Given the description of an element on the screen output the (x, y) to click on. 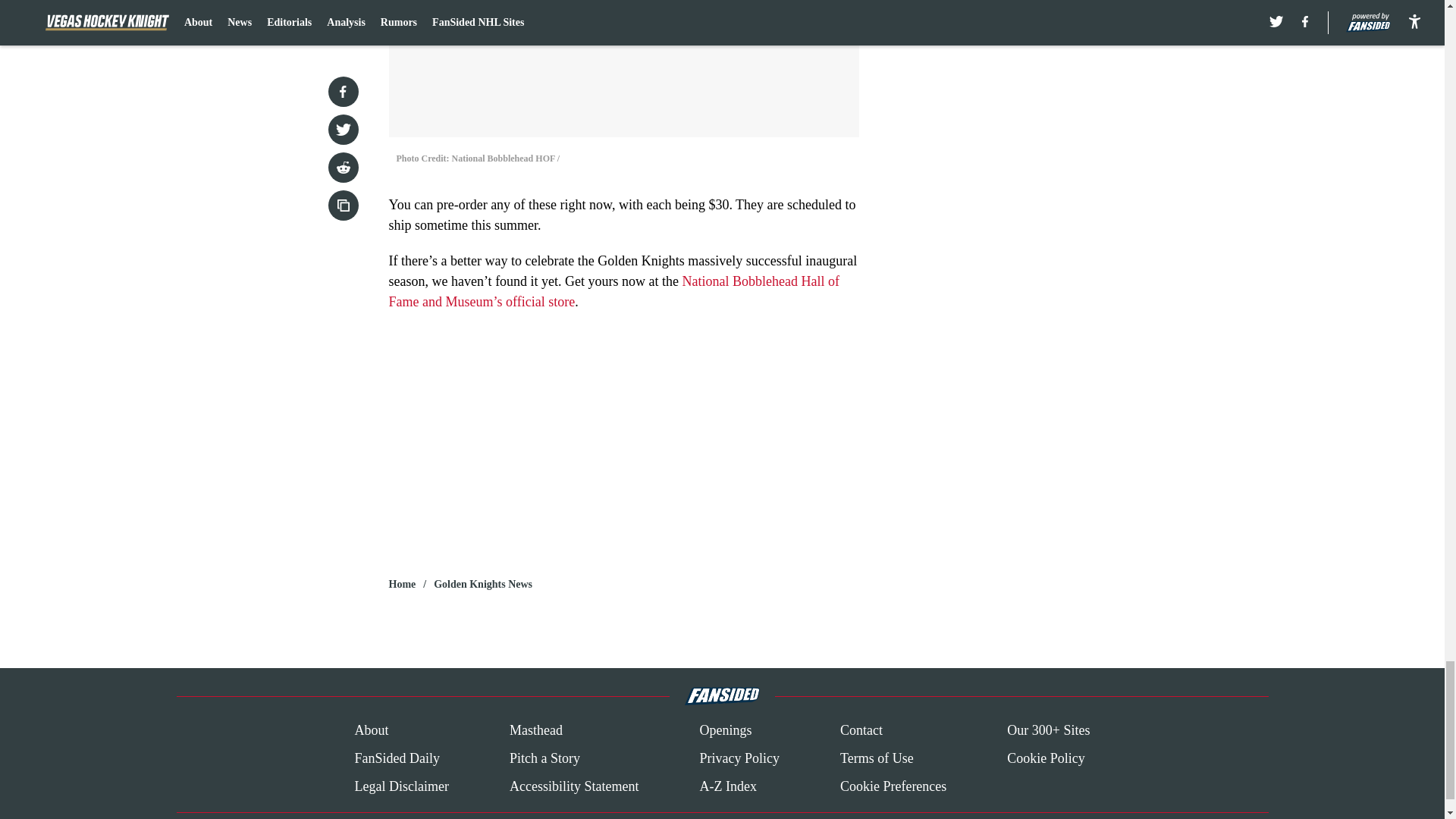
Legal Disclaimer (400, 786)
FanSided Daily (396, 758)
Masthead (535, 730)
Accessibility Statement (574, 786)
Privacy Policy (738, 758)
Golden Knights News (482, 584)
Contact (861, 730)
Home (401, 584)
Openings (724, 730)
Terms of Use (877, 758)
About (370, 730)
Cookie Policy (1045, 758)
Pitch a Story (544, 758)
